Given the description of an element on the screen output the (x, y) to click on. 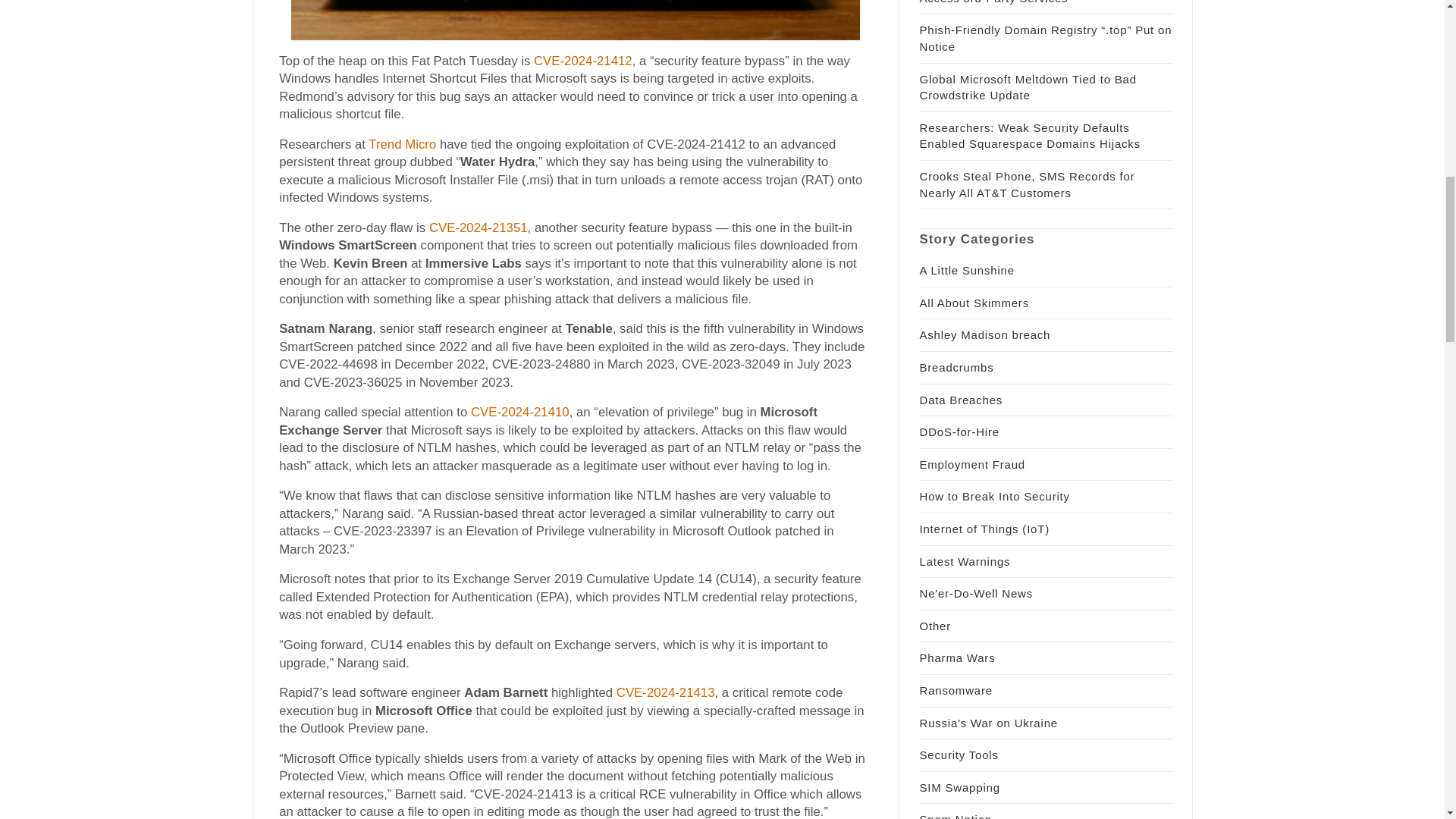
Trend Micro (401, 144)
CVE-2024-21410 (519, 411)
CVE-2024-21413 (664, 692)
CVE-2024-21412 (582, 60)
CVE-2024-21351 (478, 227)
